Given the description of an element on the screen output the (x, y) to click on. 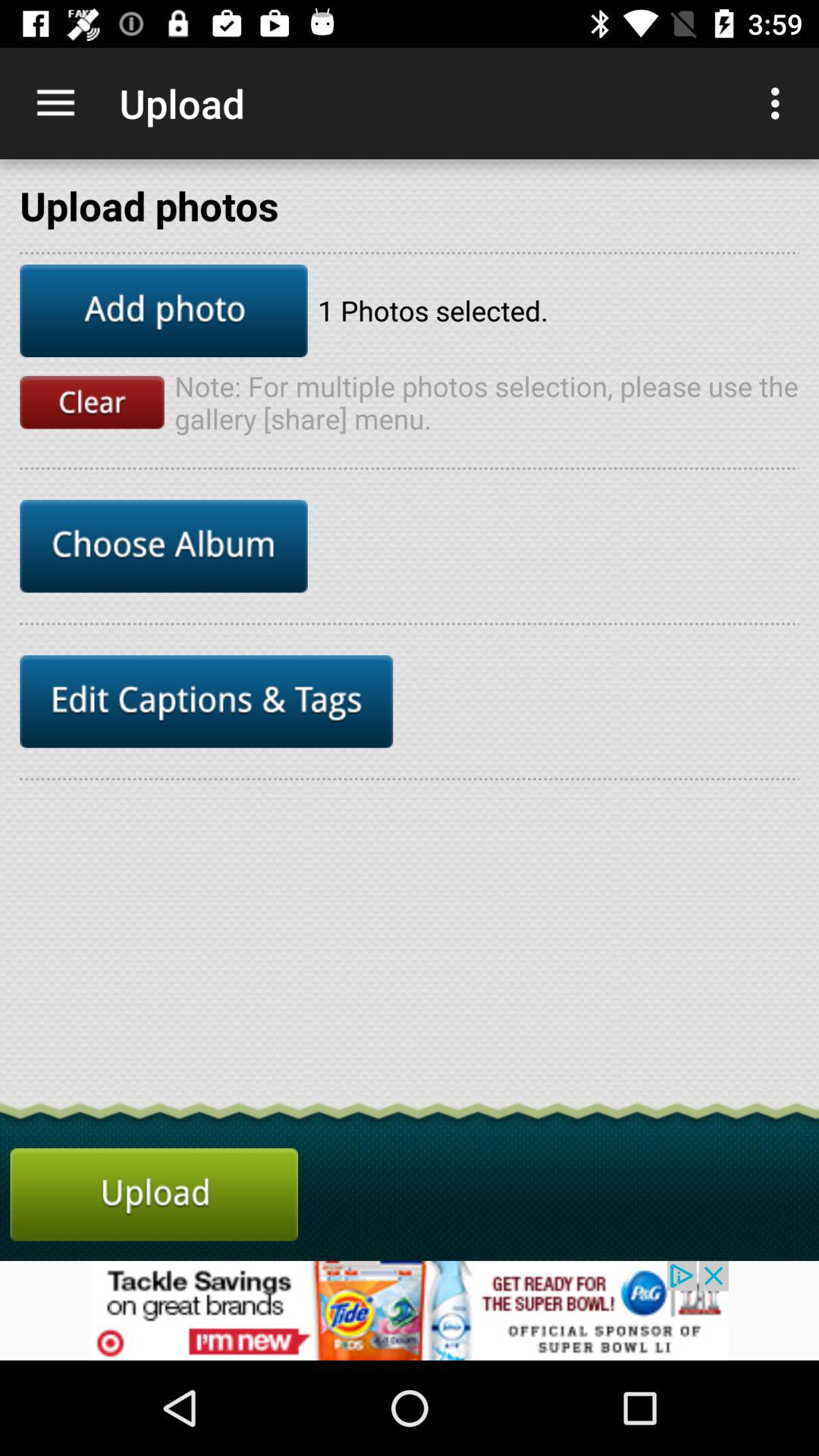
upload button (154, 1194)
